Given the description of an element on the screen output the (x, y) to click on. 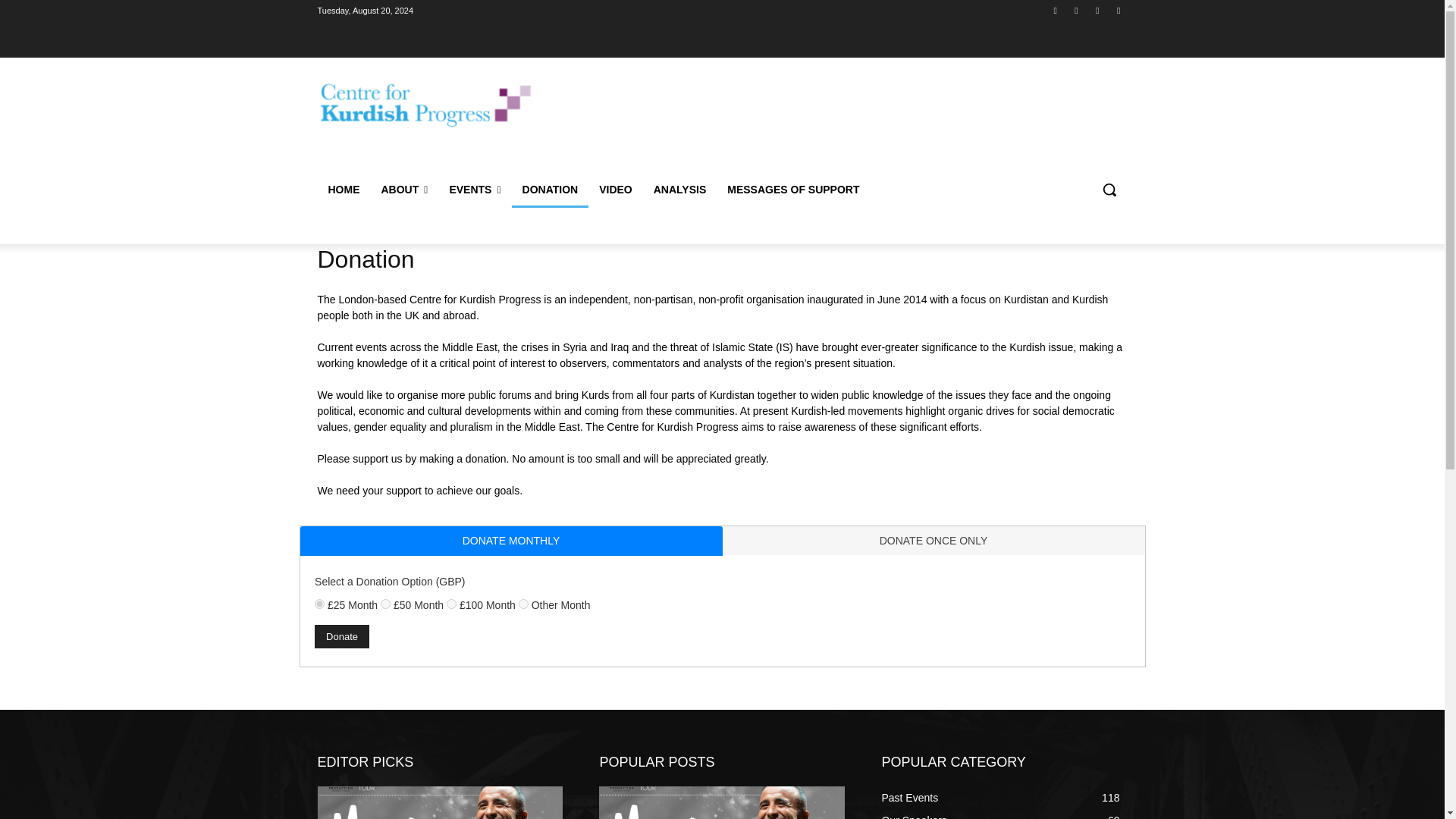
100 (451, 603)
Facebook (1055, 9)
DONATION (550, 189)
DONATE MONTHLY (510, 540)
HOME (343, 189)
Flickr (1075, 9)
Youtube (1117, 9)
25 (319, 603)
50 (385, 603)
Twitter (1097, 9)
